Given the description of an element on the screen output the (x, y) to click on. 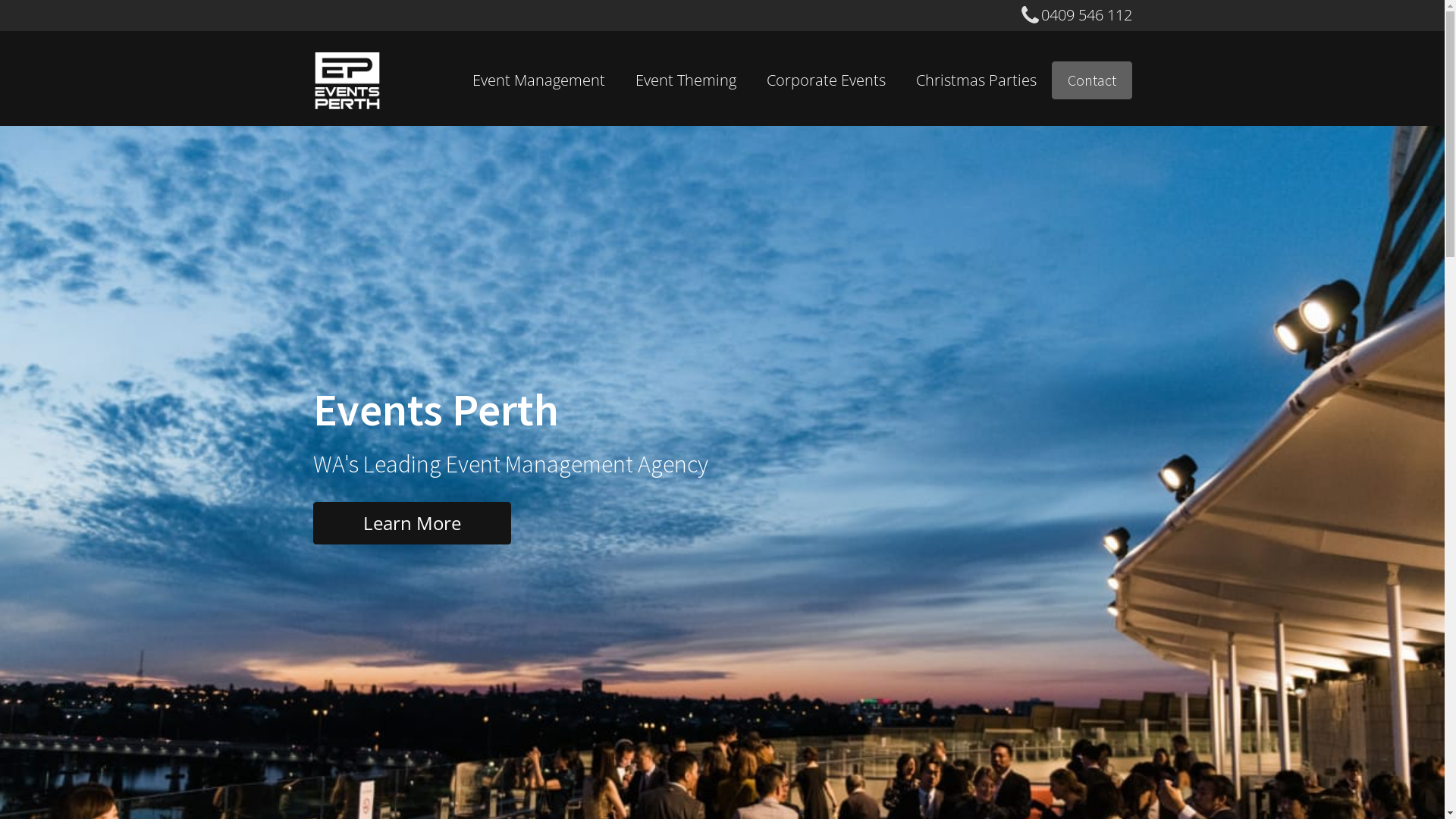
Event Theming Element type: text (685, 80)
Event Management Element type: text (537, 80)
Corporate Events Element type: text (825, 80)
Contact Element type: text (1091, 80)
Learn More Element type: text (411, 523)
Christmas Parties Element type: text (975, 80)
